Given the description of an element on the screen output the (x, y) to click on. 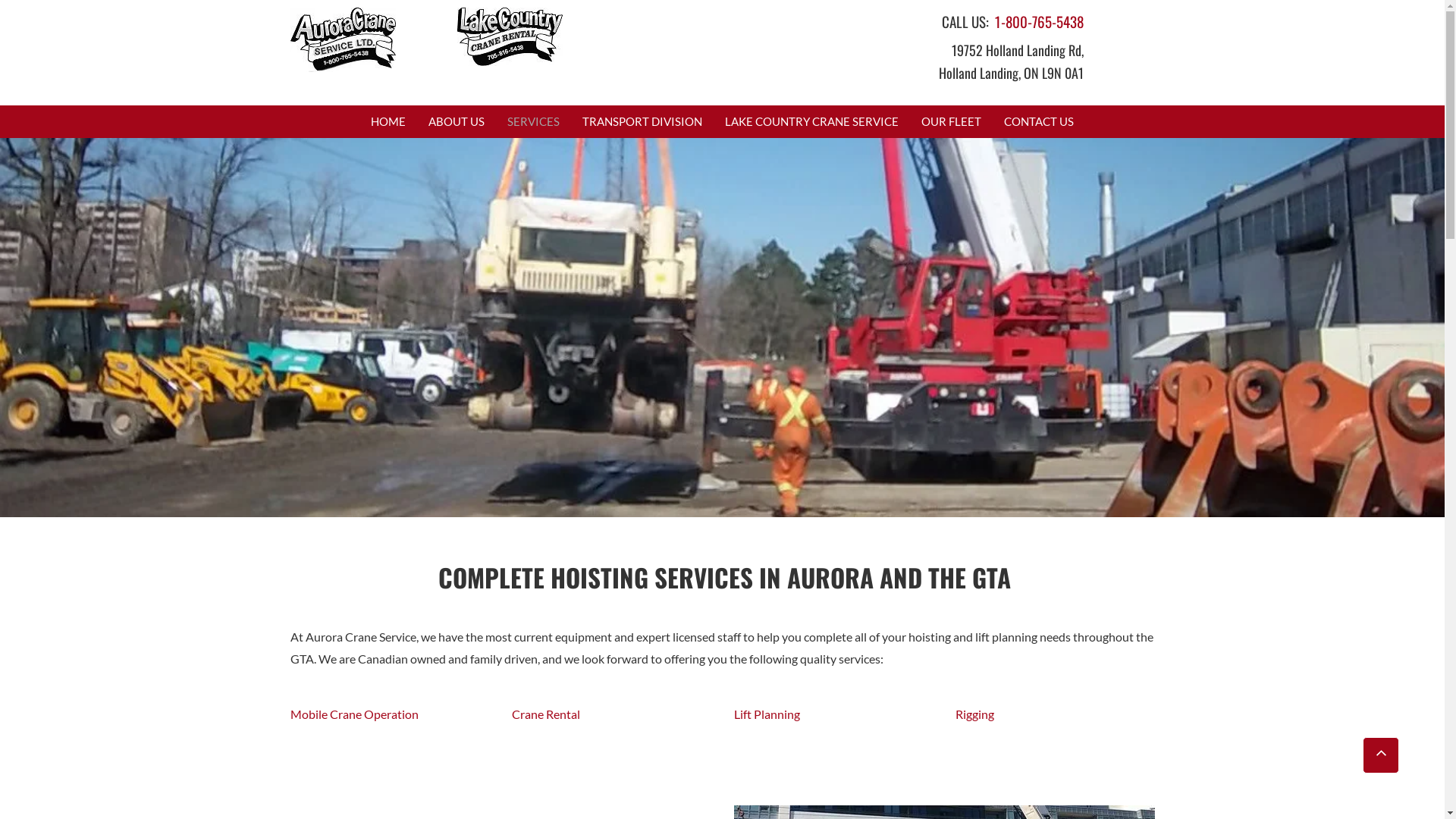
CONTACT US Element type: text (1038, 121)
Lift Planning Element type: text (767, 713)
Mobile Crane Operation Element type: text (353, 713)
TRANSPORT DIVISION Element type: text (642, 121)
Rigging Element type: text (974, 713)
Crane Rental Element type: text (545, 713)
SERVICES Element type: text (533, 121)
1-800-765-5438 Element type: text (1037, 20)
LAKE COUNTRY CRANE SERVICE Element type: text (811, 121)
OUR FLEET Element type: text (951, 121)
ABOUT US Element type: text (456, 121)
HOME Element type: text (388, 121)
